Given the description of an element on the screen output the (x, y) to click on. 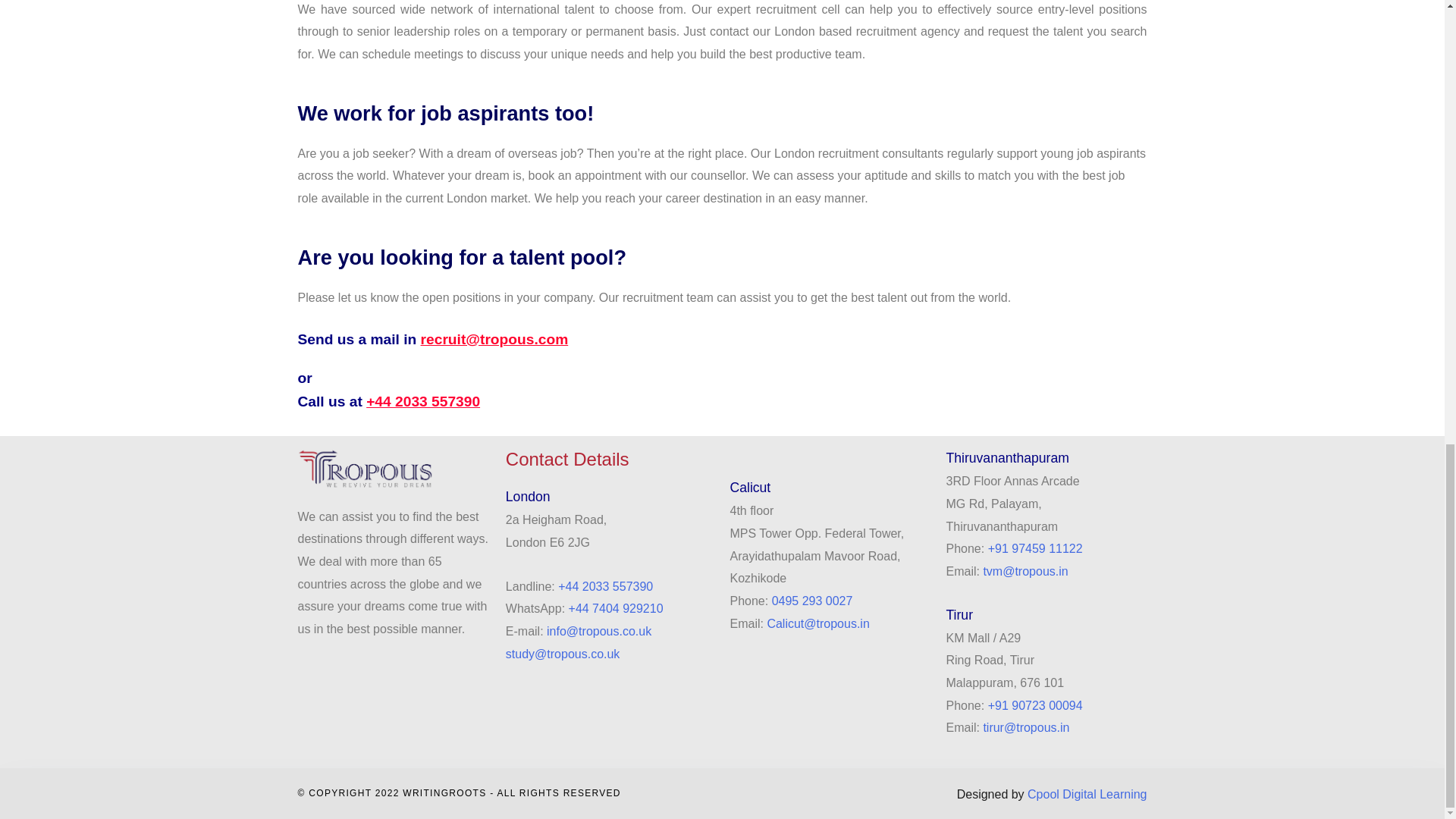
0495 293 0027 (812, 600)
Cpool Digital Learning (1087, 793)
